Given the description of an element on the screen output the (x, y) to click on. 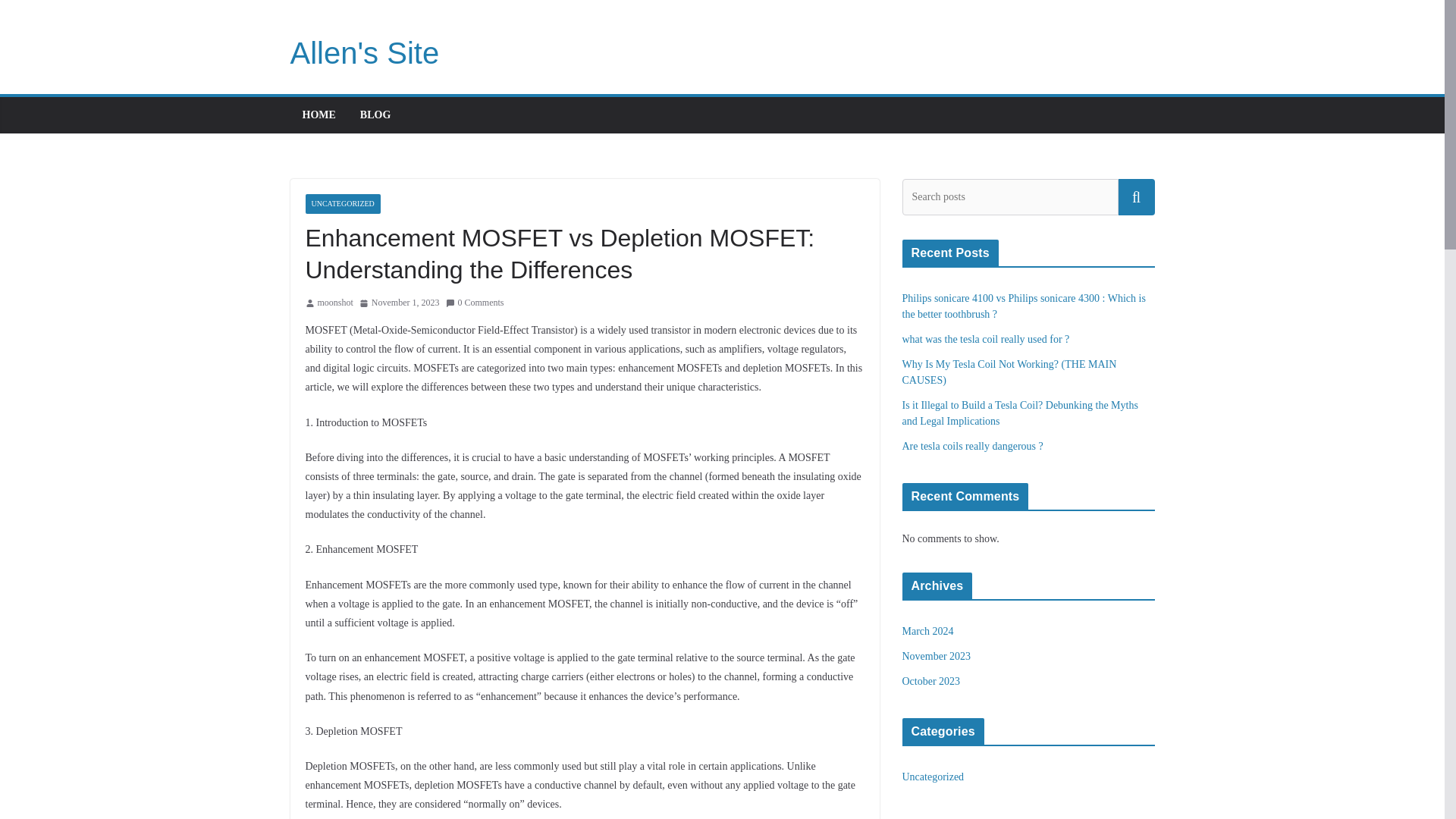
moonshot (334, 303)
5:38 pm (399, 303)
Allen's Site (364, 52)
0 Comments (474, 303)
October 2023 (931, 681)
BLOG (374, 115)
Search (1136, 197)
UNCATEGORIZED (342, 203)
Allen's Site (364, 52)
moonshot (334, 303)
